Given the description of an element on the screen output the (x, y) to click on. 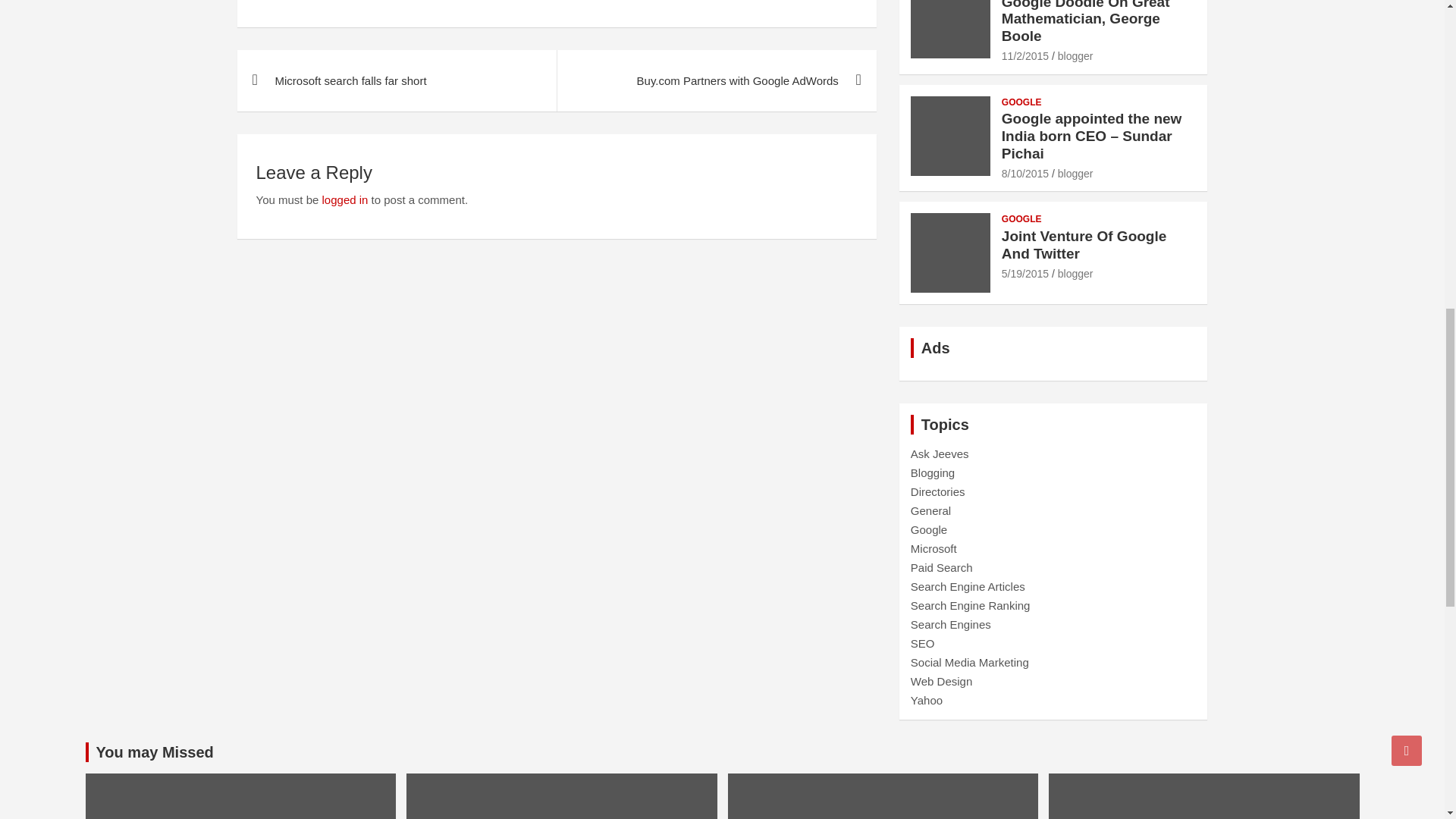
Google Doodle On Great Mathematician, George Boole (1024, 55)
logged in (344, 199)
Joint Venture Of Google And Twitter (1024, 273)
Microsoft search falls far short (395, 80)
Buy.com Partners with Google AdWords (716, 80)
